Given the description of an element on the screen output the (x, y) to click on. 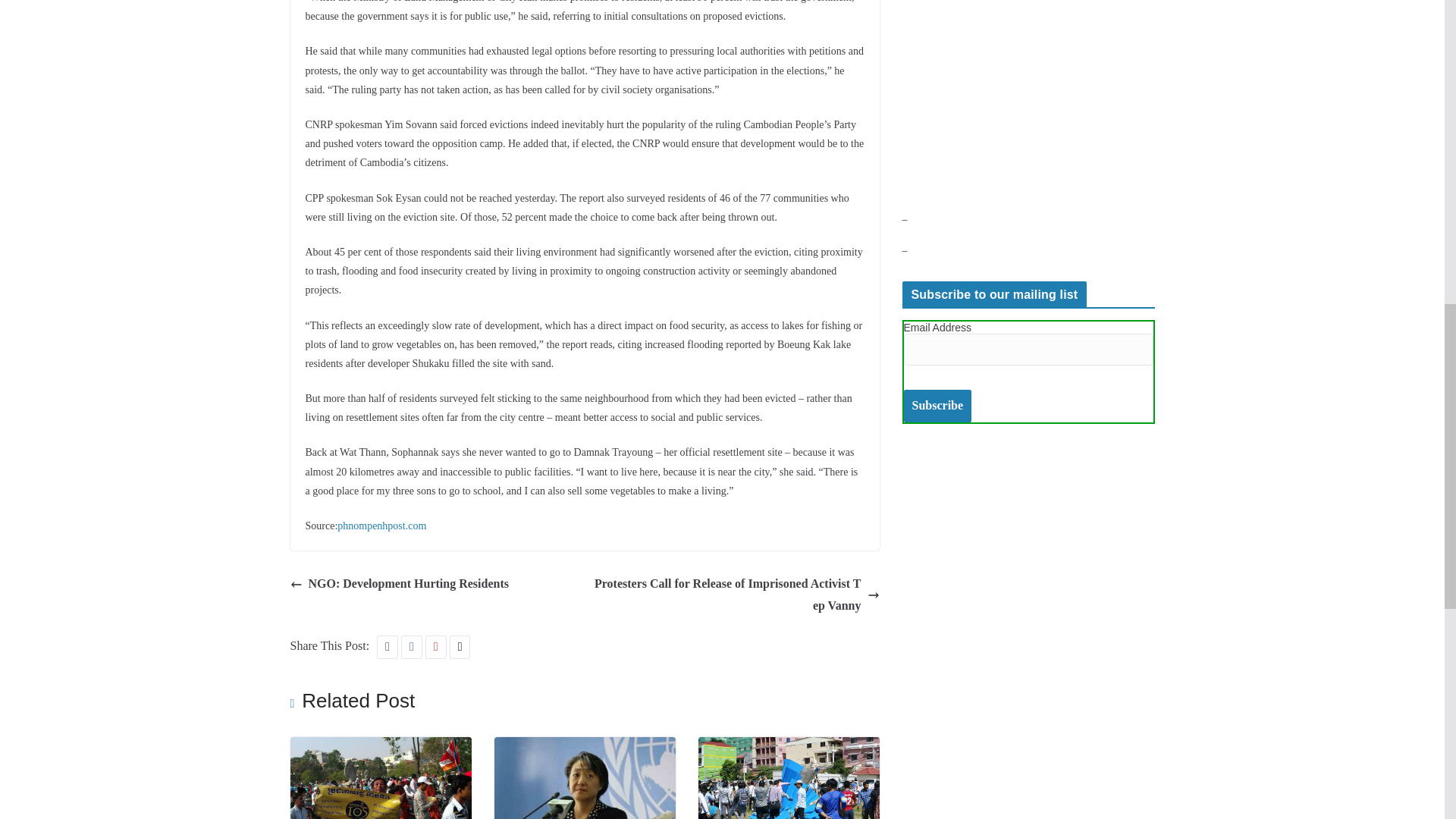
NGO: Development Hurting Residents (398, 584)
Subscribe (938, 405)
Protesters Call for Release of Imprisoned Activist Tep Vanny (735, 595)
phnompenhpost.com (381, 525)
Mam Sonando and His Supporters Expel (379, 747)
